Given the description of an element on the screen output the (x, y) to click on. 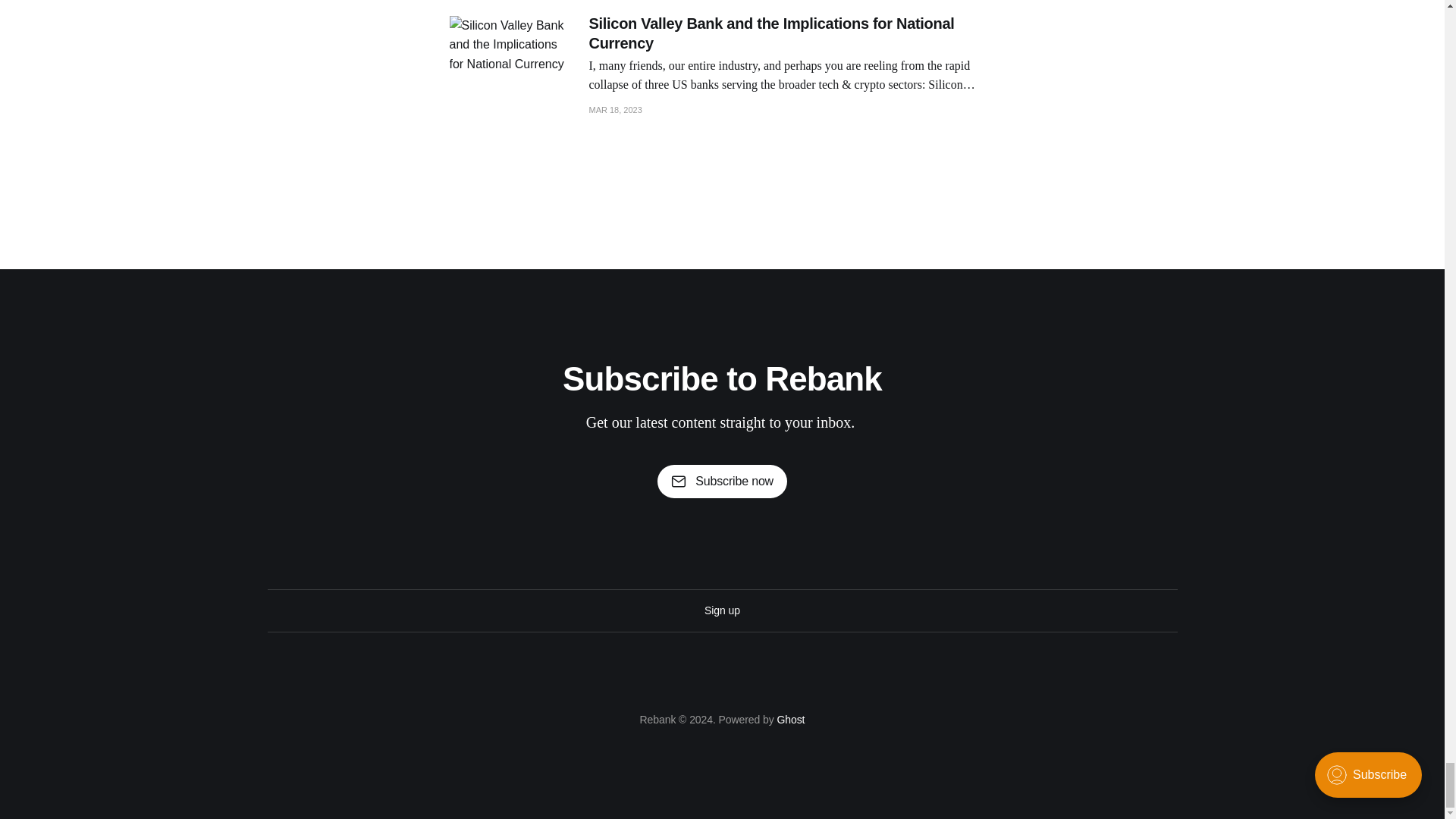
Sign up (721, 610)
Subscribe now (722, 481)
Ghost (790, 719)
